Given the description of an element on the screen output the (x, y) to click on. 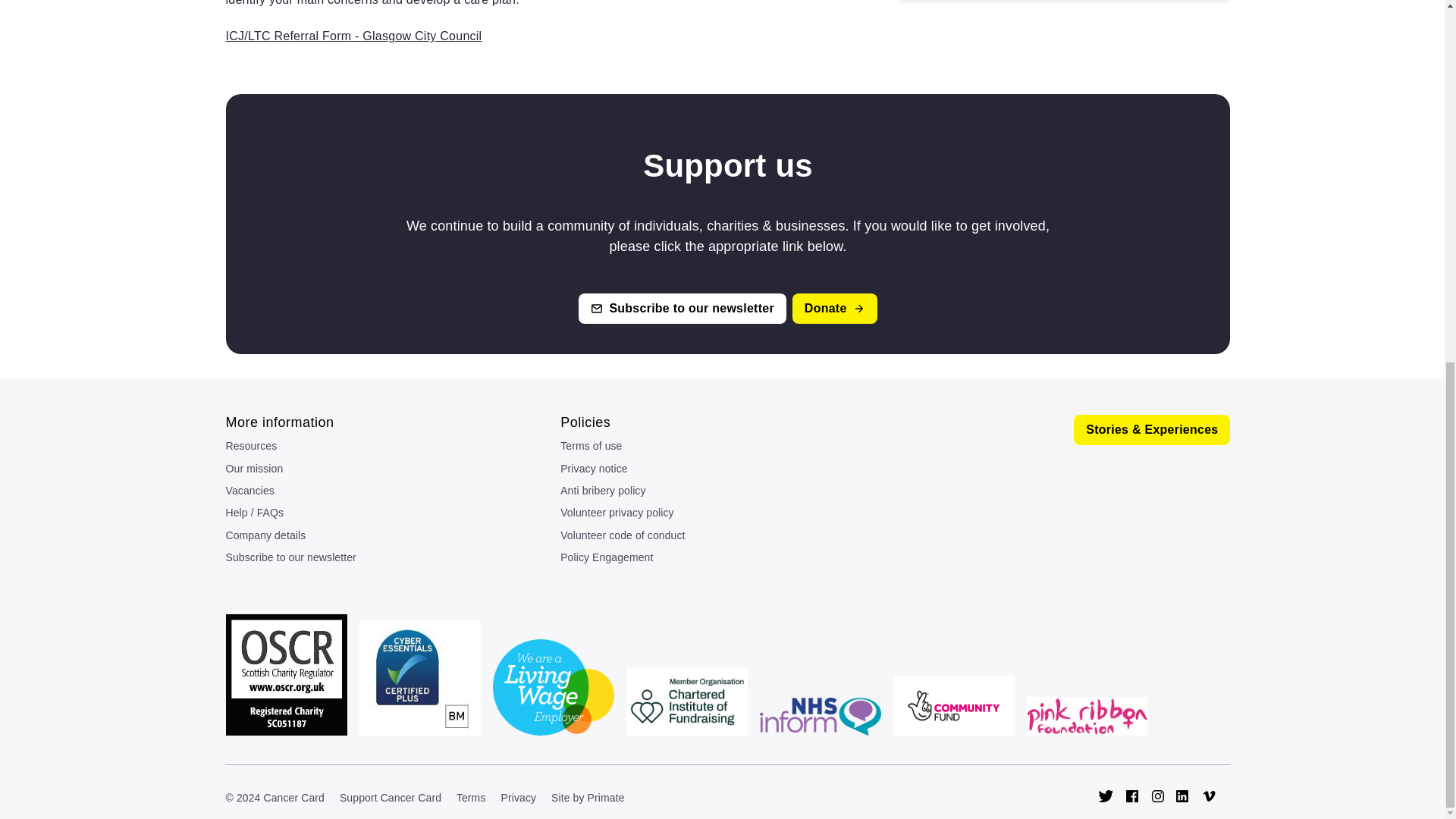
Resources (392, 448)
Our mission (392, 471)
Donate (834, 308)
Subscribe to our newsletter (682, 308)
Vacancies (392, 493)
